Given the description of an element on the screen output the (x, y) to click on. 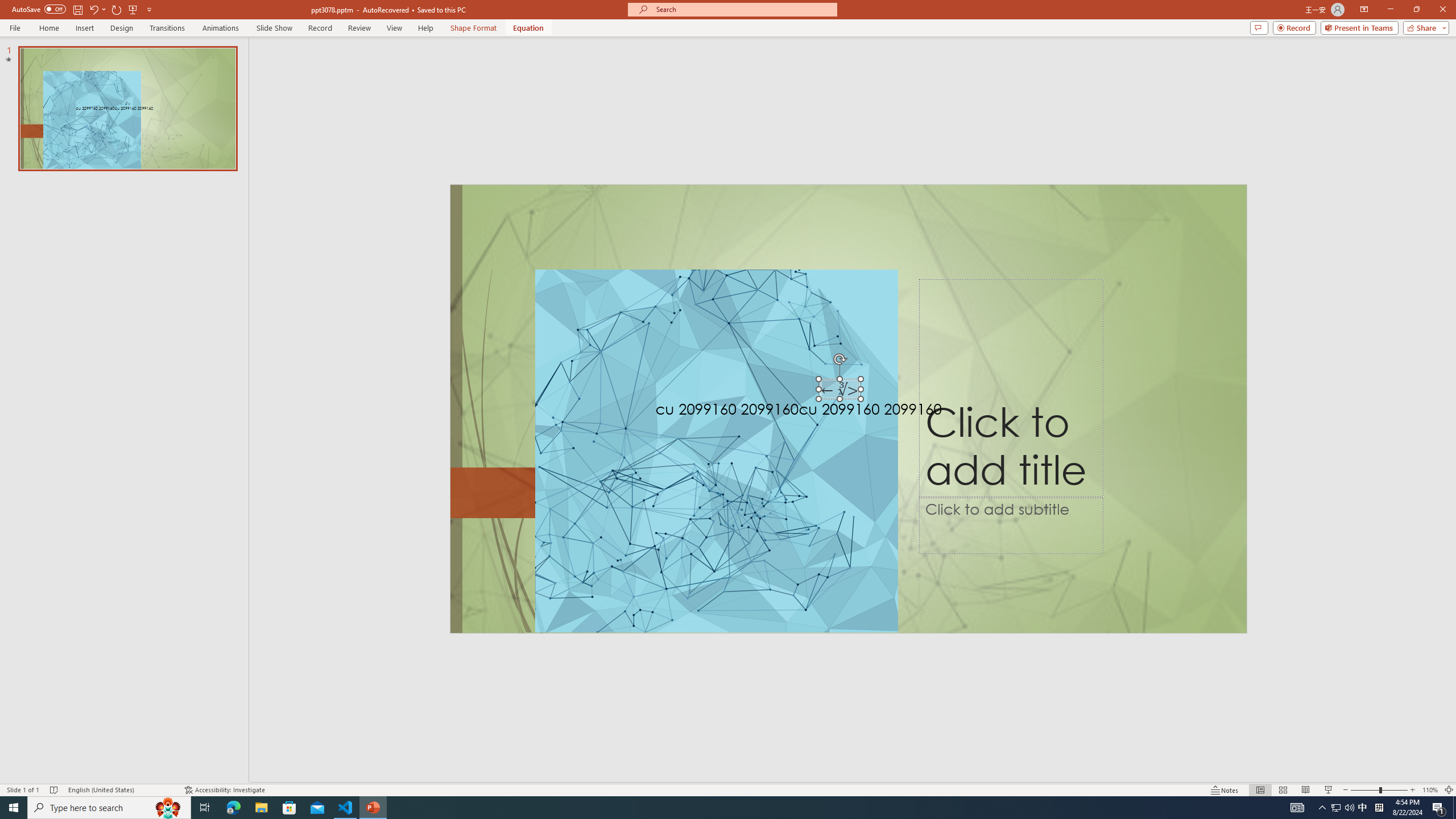
Zoom 110% (1430, 790)
Equation (528, 28)
